Given the description of an element on the screen output the (x, y) to click on. 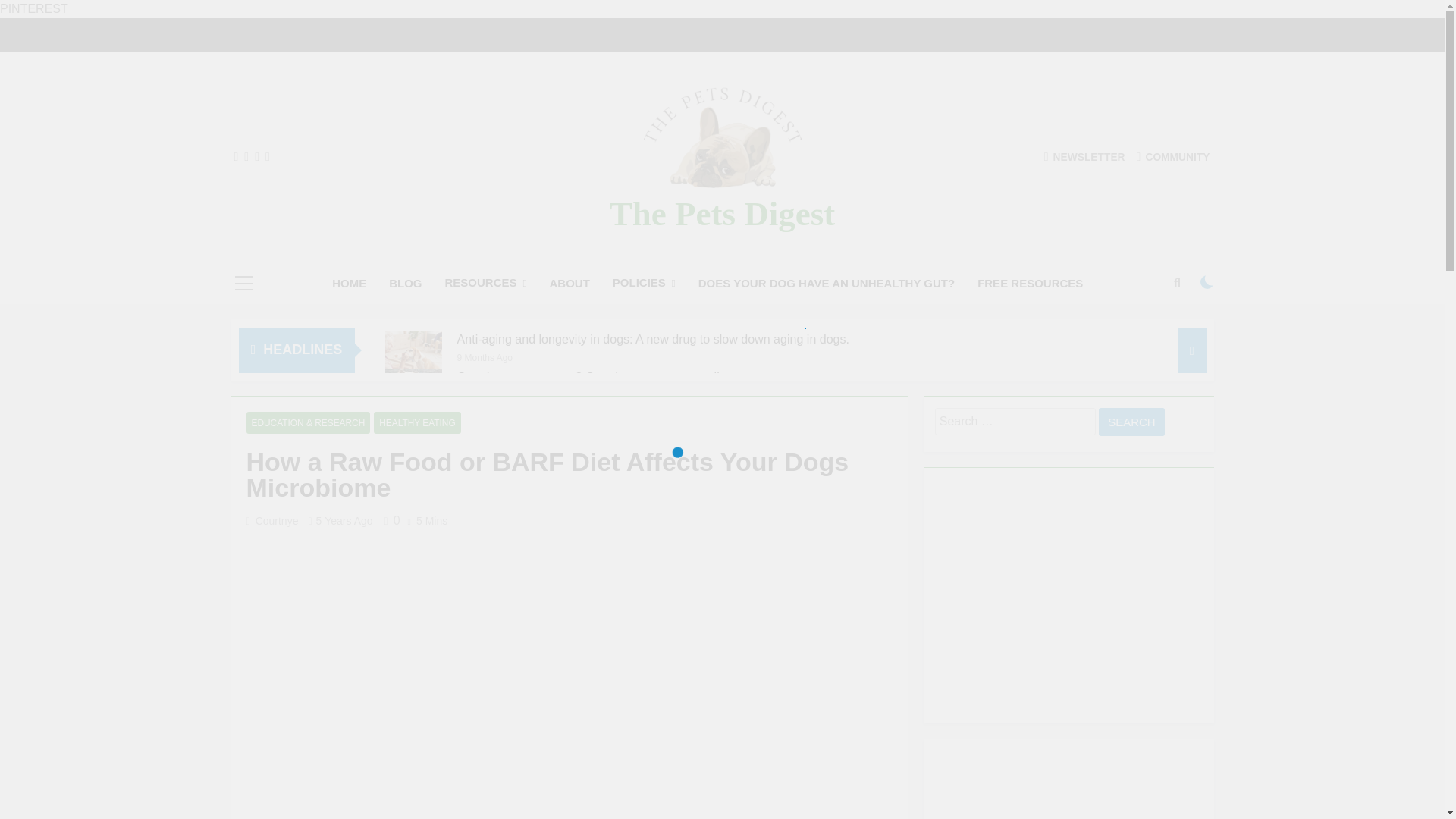
RESOURCES (485, 282)
on (1206, 282)
Can dogs eat coconut? Can dogs eat coconut oil (413, 396)
Search (1131, 421)
BLOG (404, 282)
Can dogs eat coconut? Can dogs eat coconut oil (588, 377)
Can dogs eat coconut? Can dogs eat coconut oil (588, 377)
The Pets Digest (722, 213)
POLICIES (644, 282)
